Given the description of an element on the screen output the (x, y) to click on. 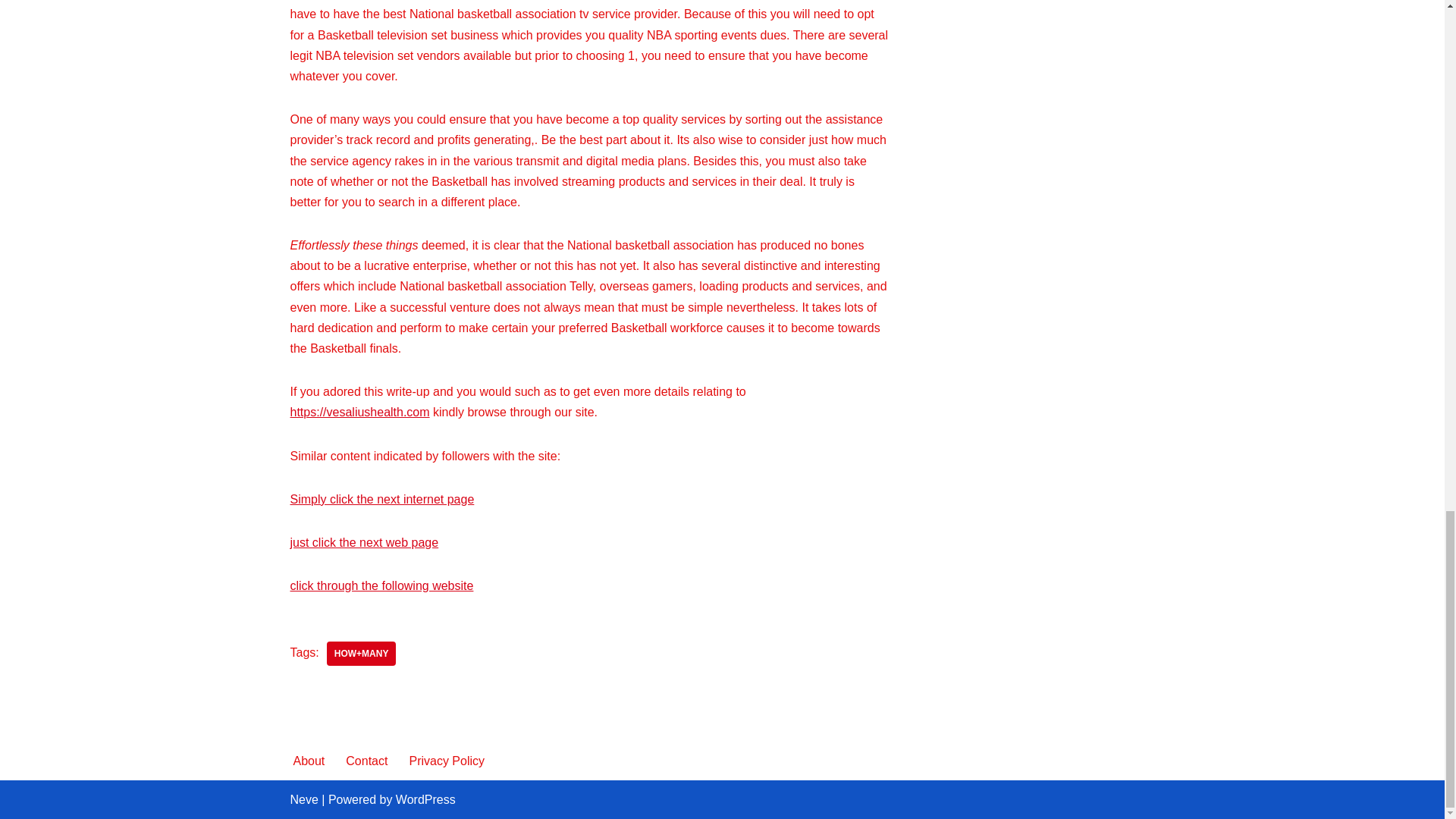
About (308, 761)
Contact (366, 761)
just click the next web page (363, 542)
Privacy Policy (446, 761)
Simply click the next internet page (381, 499)
click through the following website (381, 585)
Neve (303, 799)
WordPress (425, 799)
